Given the description of an element on the screen output the (x, y) to click on. 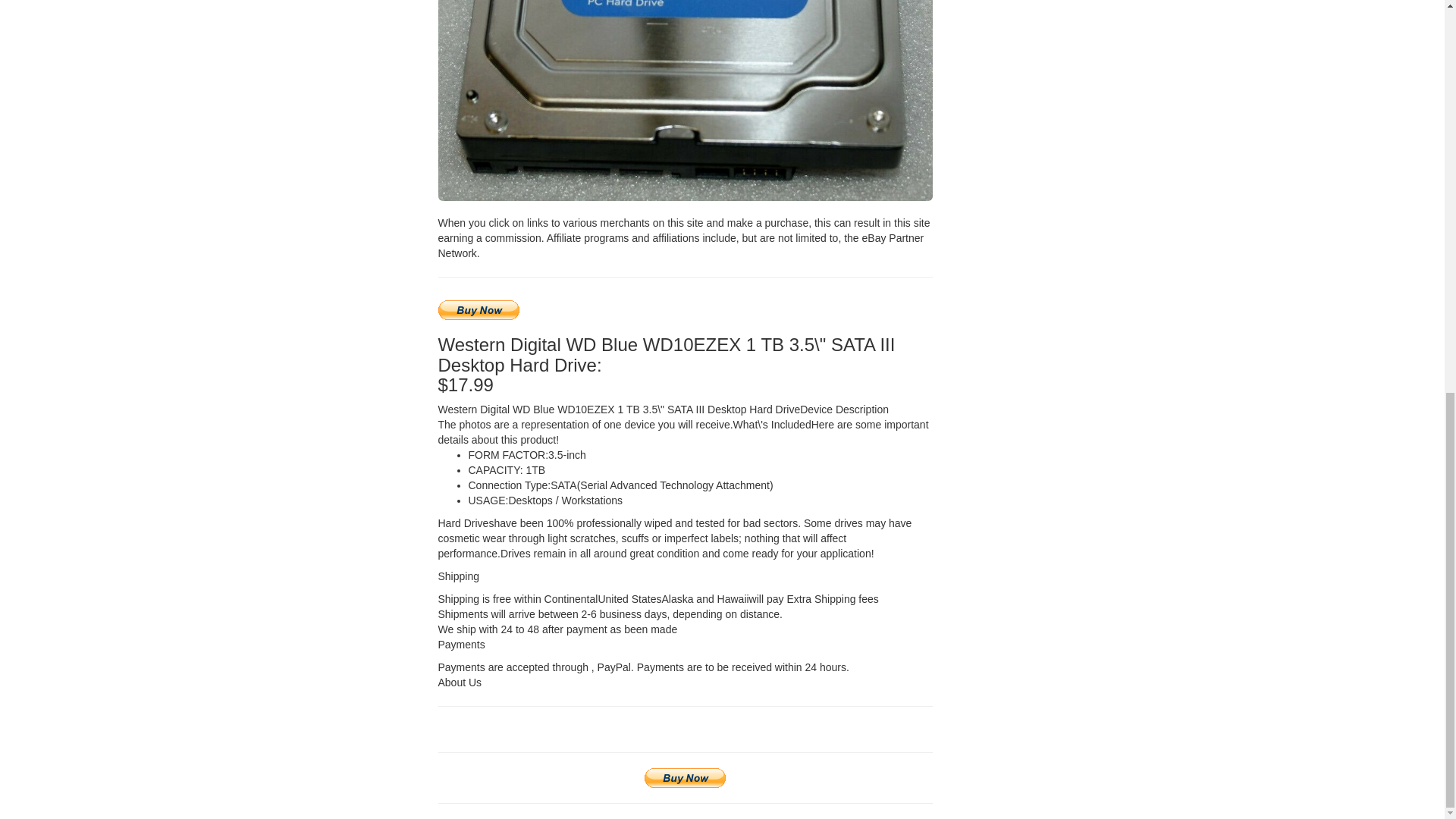
Buy Now (478, 310)
Advertisement (1068, 37)
Buy Now (685, 777)
